Given the description of an element on the screen output the (x, y) to click on. 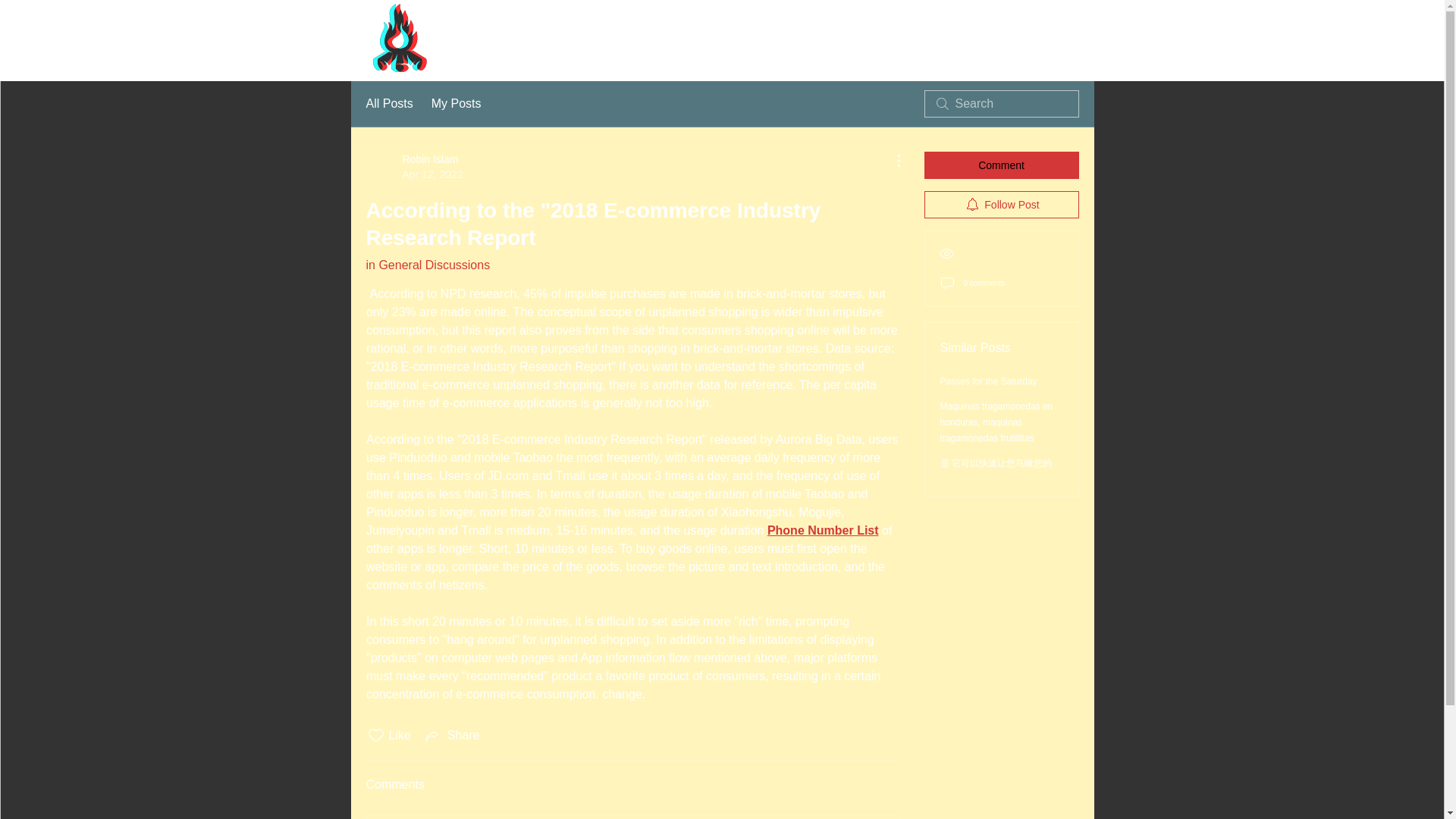
All Posts (388, 104)
Passes for the Saturday (988, 380)
in General Discussions (427, 264)
Phone Number List (414, 166)
My Posts (822, 530)
Comment (455, 104)
Follow Post (1000, 165)
Write a comment... (1000, 204)
